Given the description of an element on the screen output the (x, y) to click on. 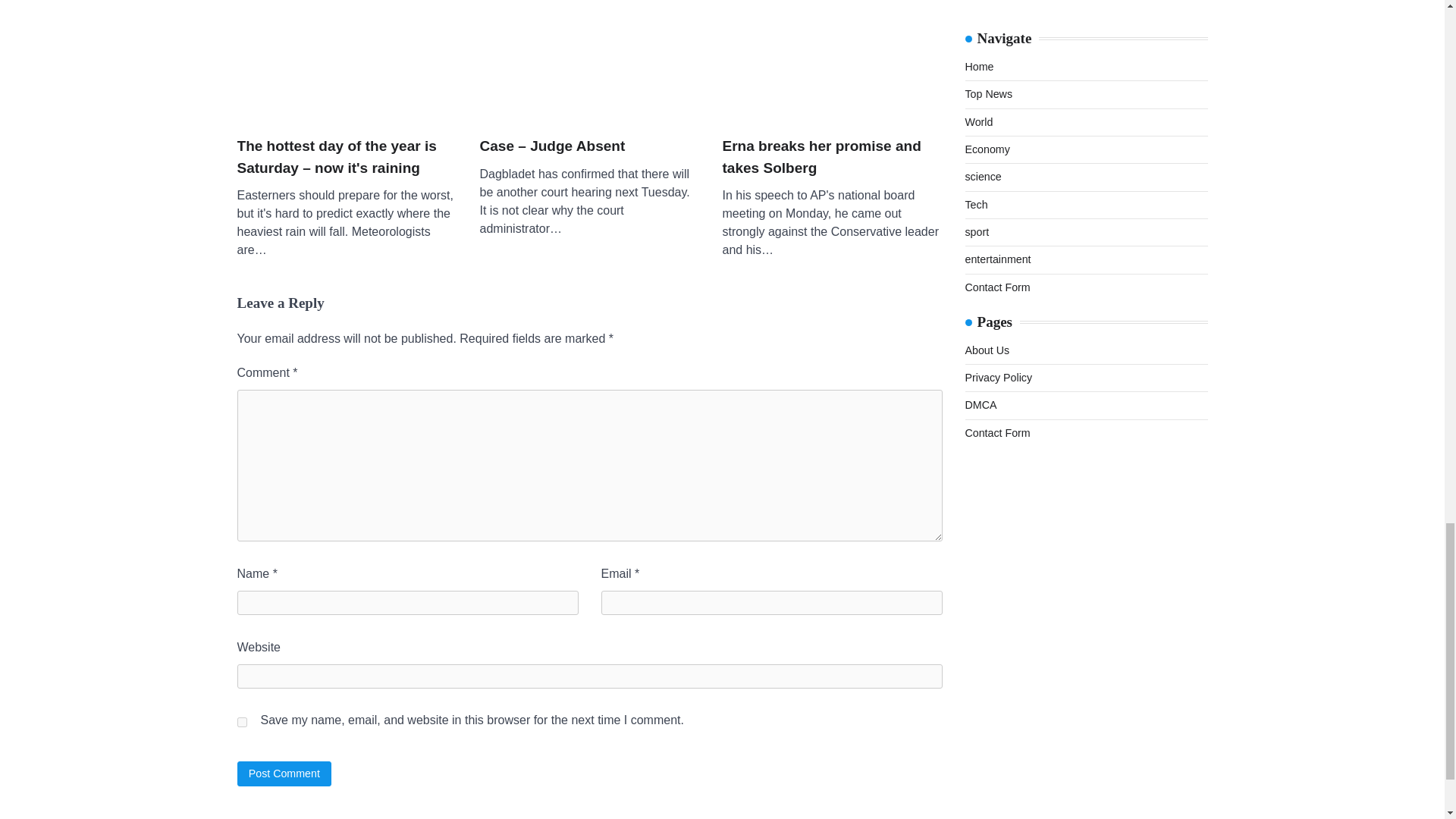
Erna breaks her promise and takes Solberg (832, 157)
yes (240, 722)
Post Comment (283, 773)
Post Comment (283, 773)
Erna breaks her promise and takes Solberg (832, 60)
